Given the description of an element on the screen output the (x, y) to click on. 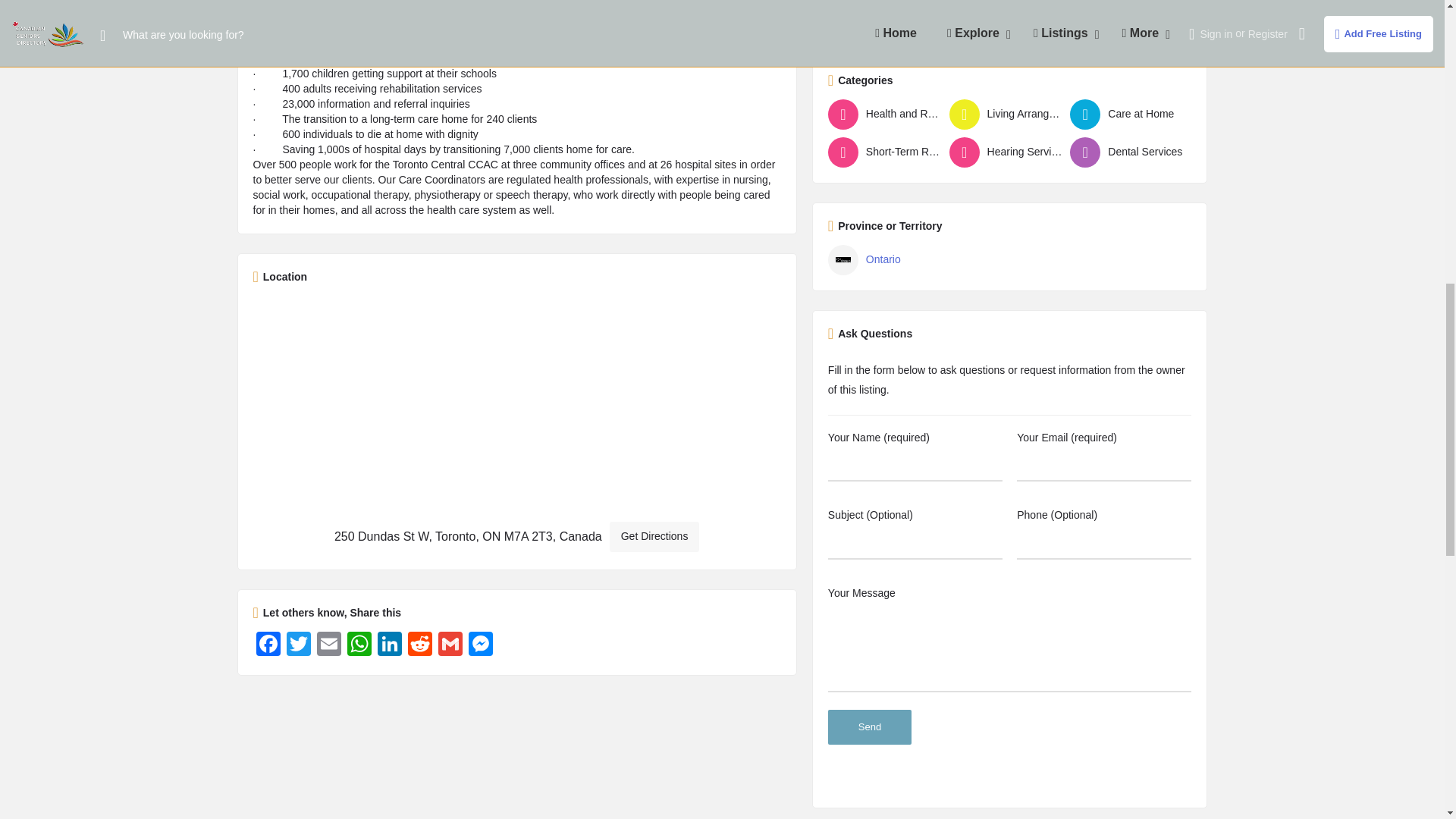
LinkedIn (389, 645)
Email (328, 645)
Reddit (419, 645)
Gmail (450, 645)
Messenger (480, 645)
Send (869, 727)
Twitter (298, 645)
Facebook (268, 645)
WhatsApp (358, 645)
